Given the description of an element on the screen output the (x, y) to click on. 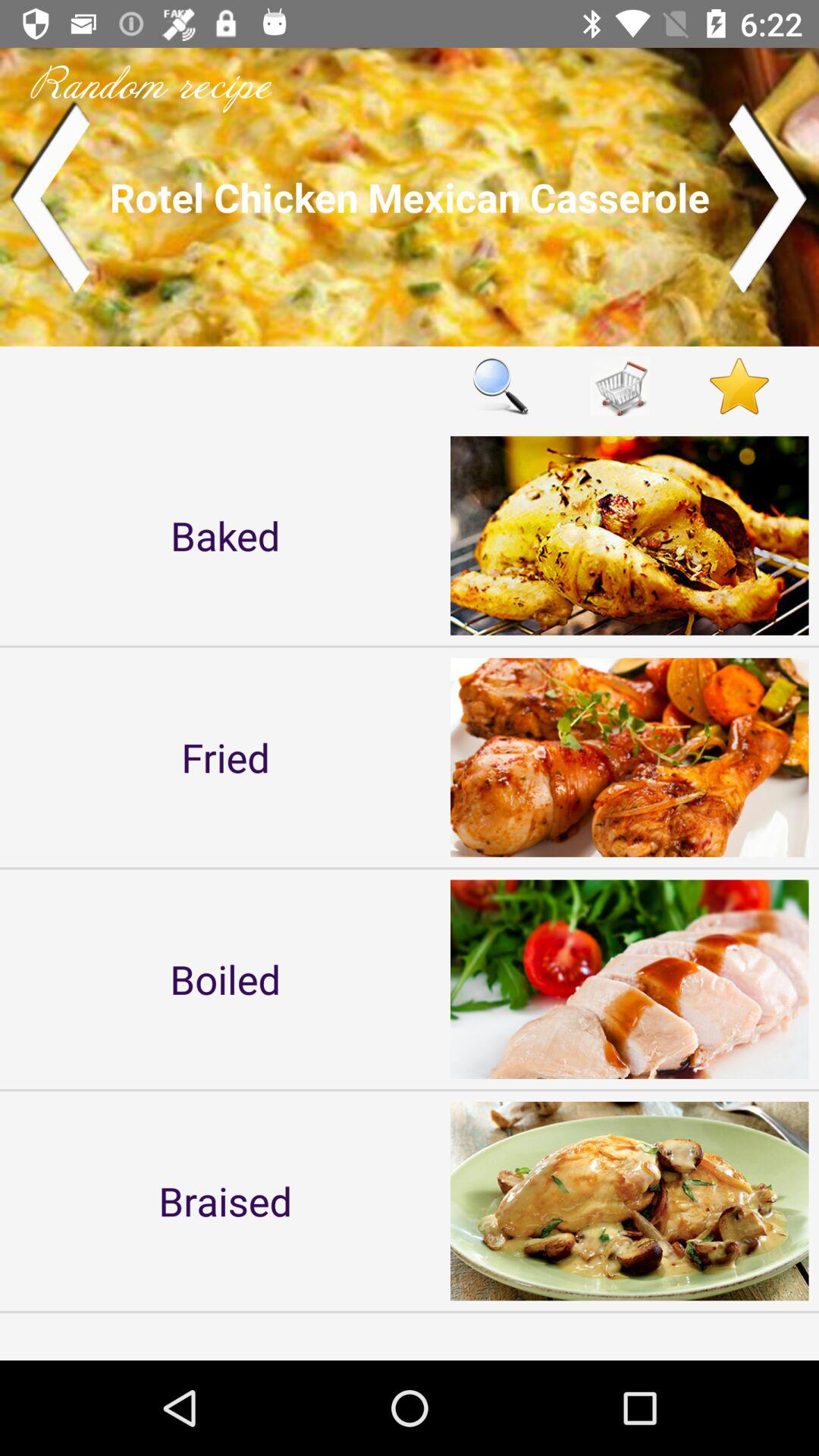
turn off the fried icon (225, 756)
